Given the description of an element on the screen output the (x, y) to click on. 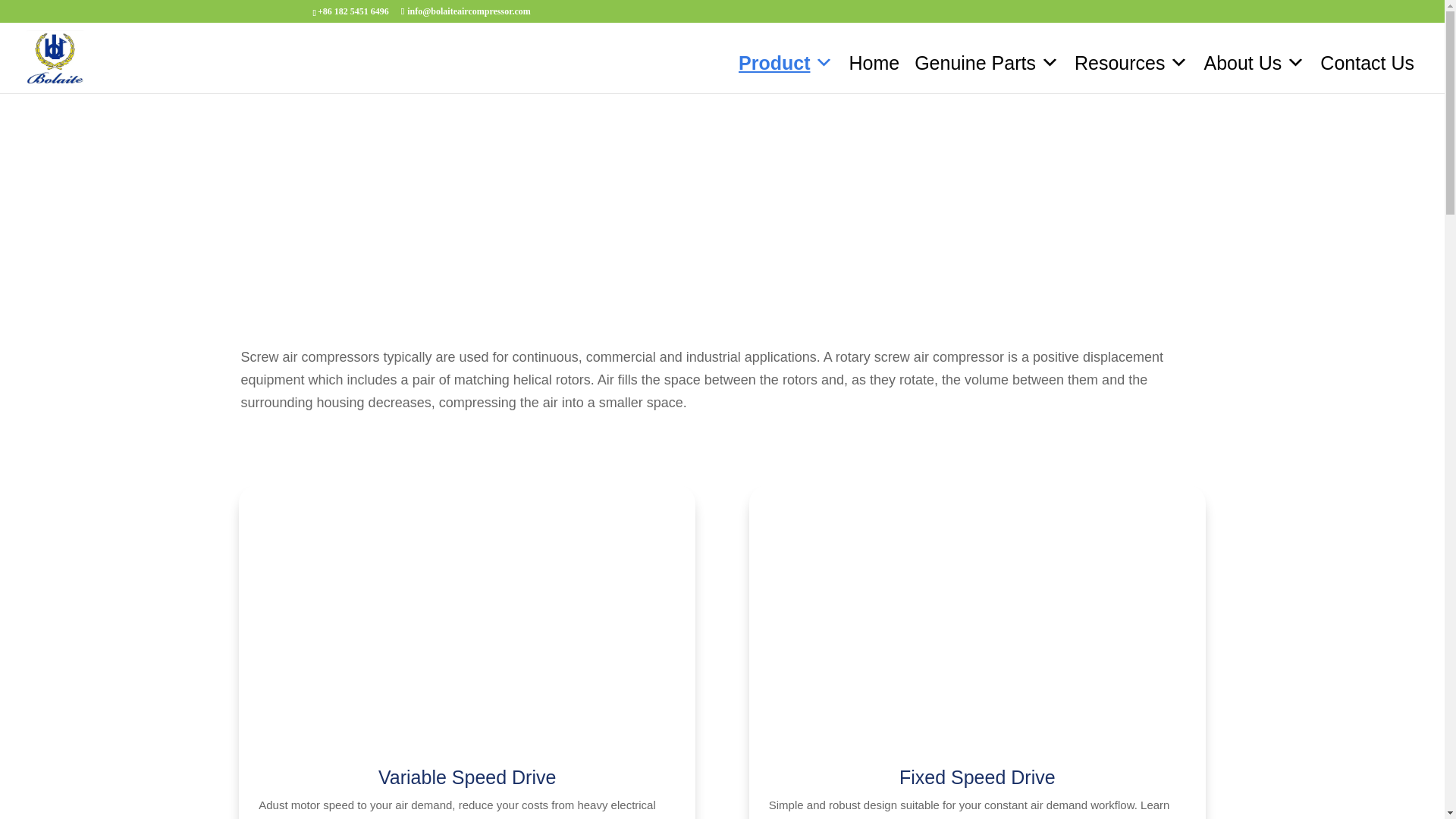
Genuine Parts (987, 62)
About Us (1254, 62)
Resources (1131, 62)
Product (785, 62)
Contact Us (1367, 62)
Home (874, 62)
